Given the description of an element on the screen output the (x, y) to click on. 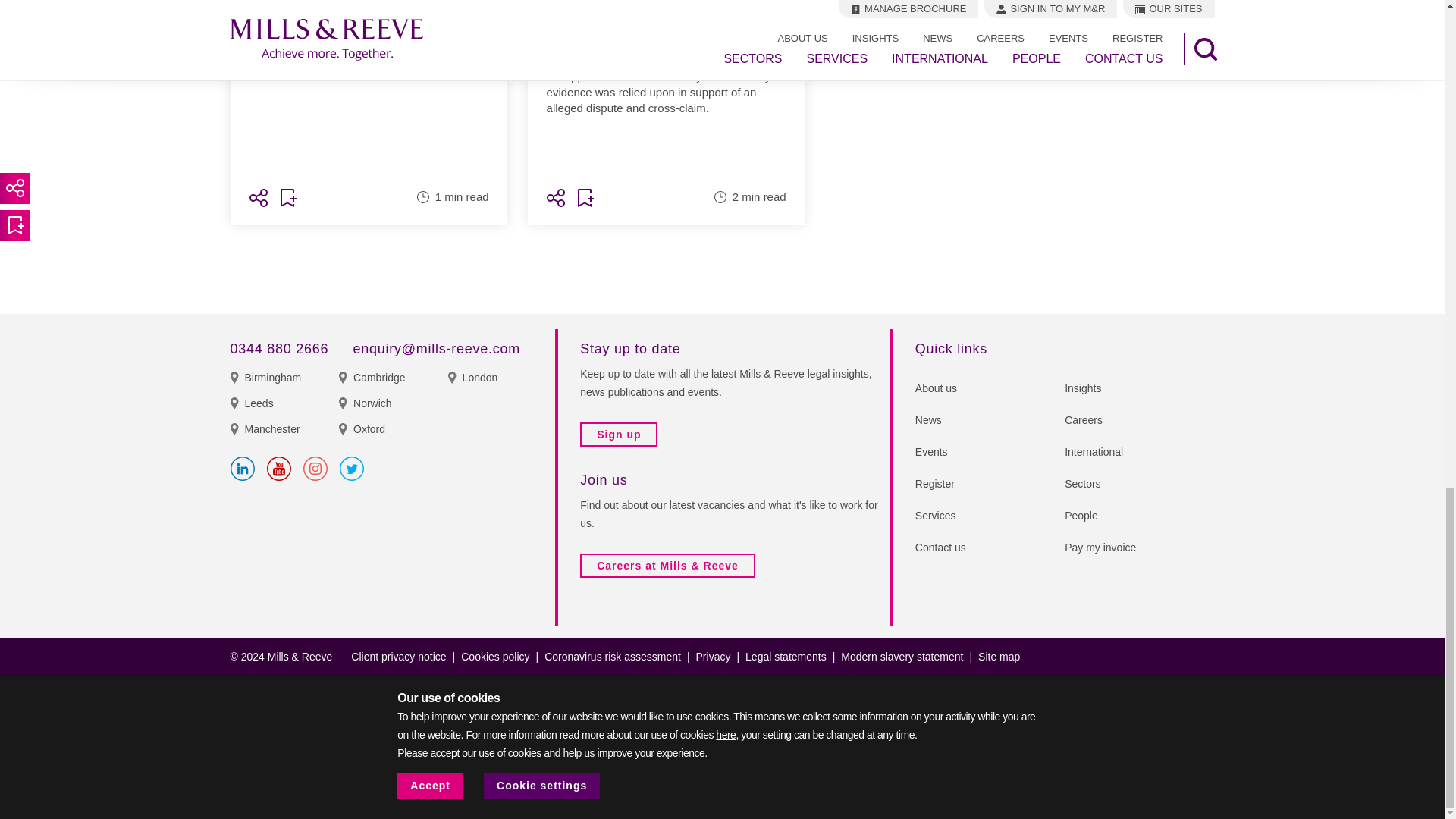
LinkedIn (242, 468)
Directors avoid disqualification (368, 87)
